Given the description of an element on the screen output the (x, y) to click on. 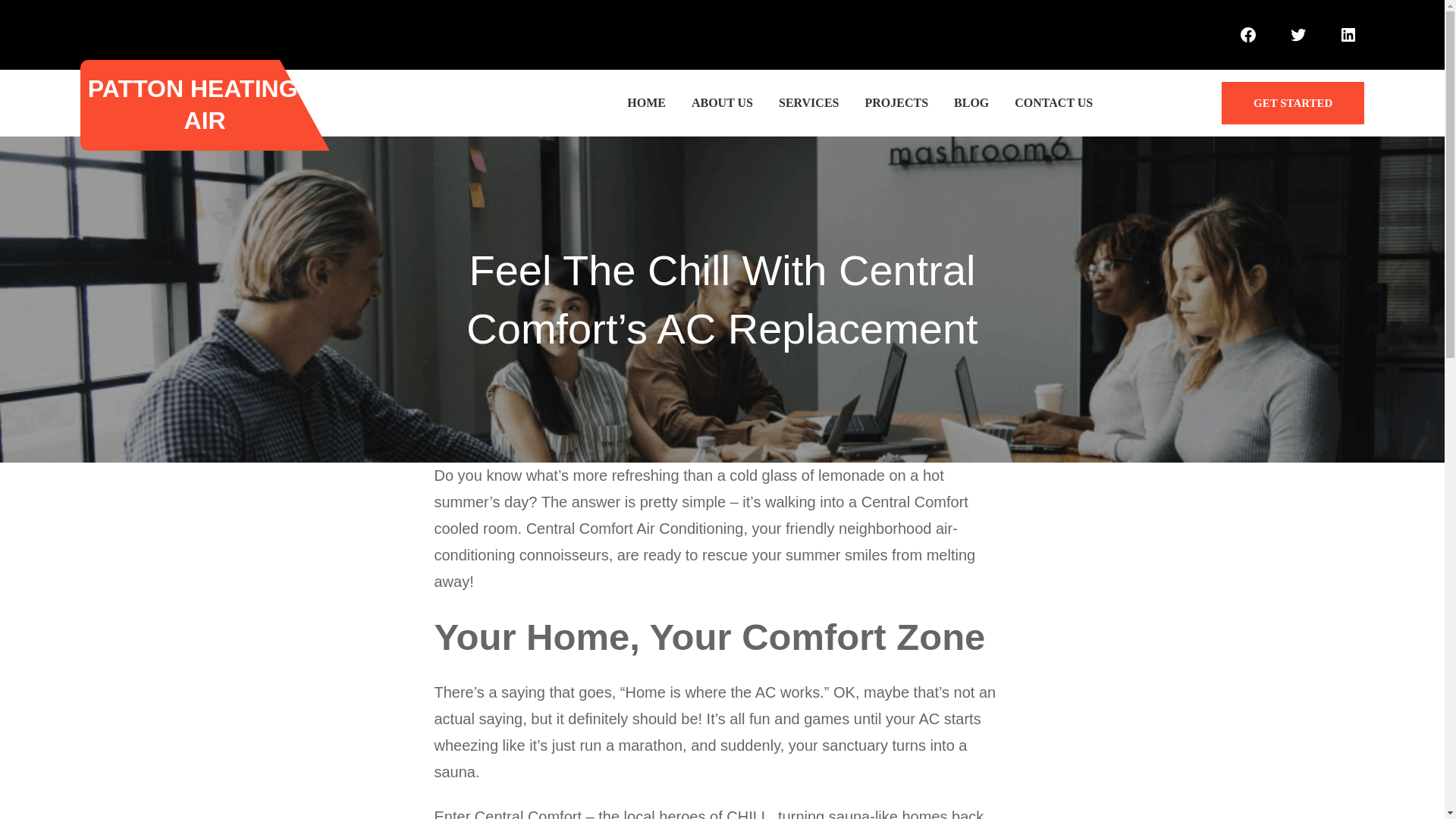
LinkedIn (1348, 34)
BLOG (970, 103)
PROJECTS (896, 103)
GET STARTED (1292, 102)
CONTACT US (1053, 103)
Twitter (1298, 34)
Facebook (1247, 34)
ABOUT US (721, 103)
SERVICES (808, 103)
HOME (646, 103)
